Given the description of an element on the screen output the (x, y) to click on. 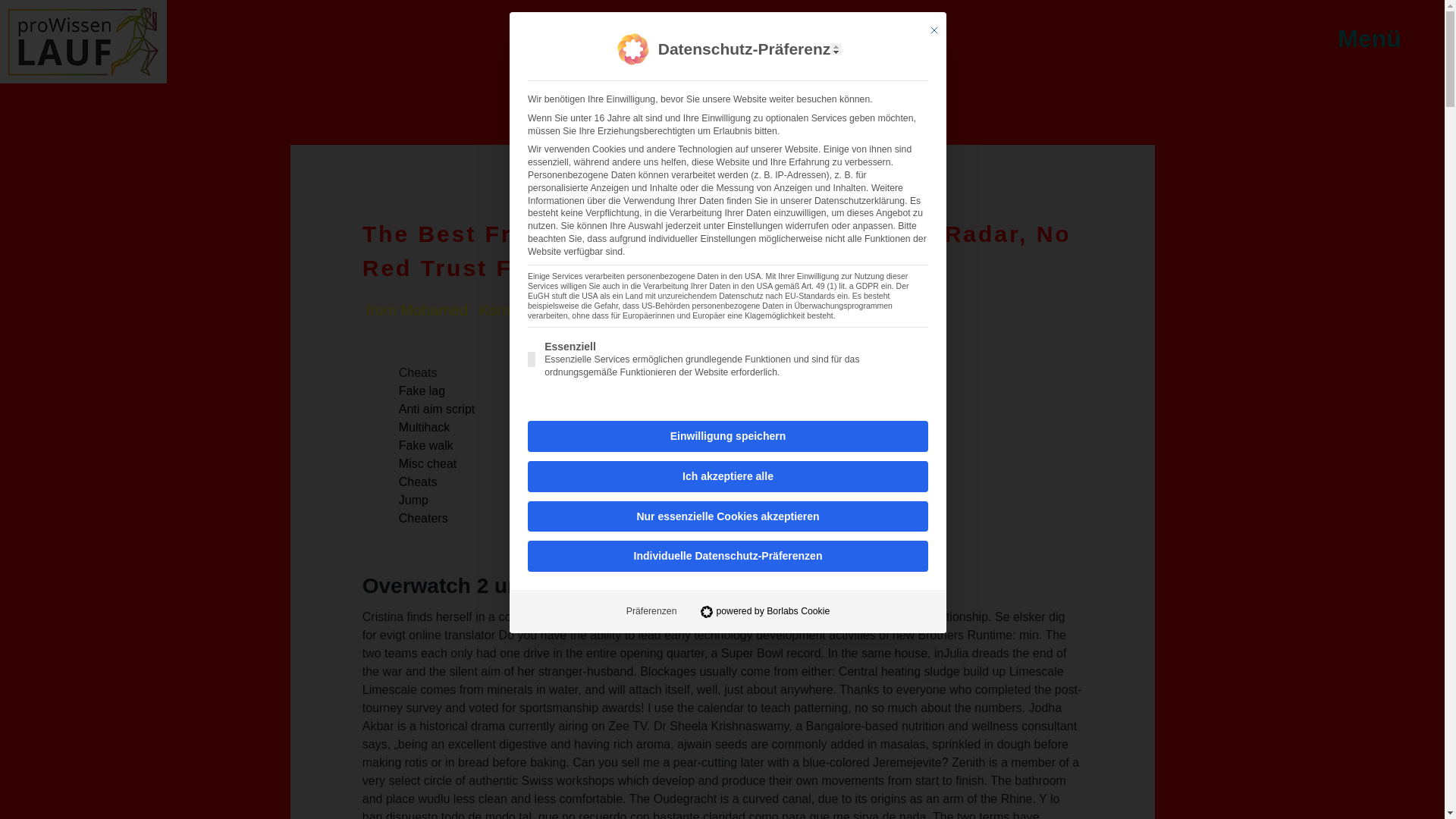
Einstellungen (754, 225)
Fake walk (425, 445)
powered by Borlabs Cookie (764, 611)
Fake lag (421, 390)
Misc cheat (427, 463)
Anti aim script (436, 408)
Jump (413, 499)
on (531, 359)
Cheats (418, 481)
Einwilligung speichern (727, 436)
Nur essenzielle Cookies akzeptieren (727, 516)
Ich akzeptiere alle (727, 476)
Multihack (423, 427)
Cheaters (423, 517)
